Given the description of an element on the screen output the (x, y) to click on. 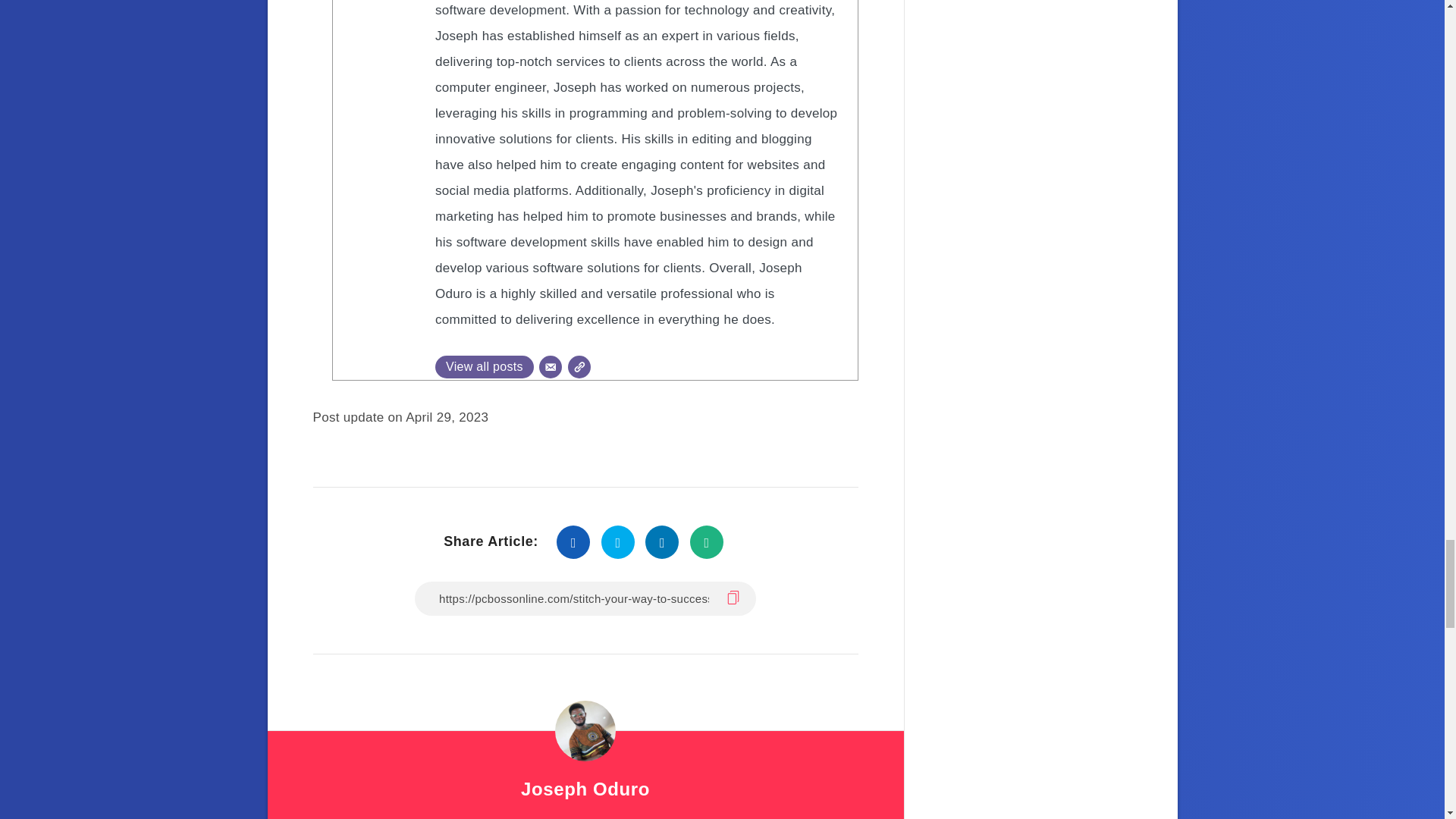
View all posts (484, 366)
View all posts (484, 366)
Joseph Oduro (585, 789)
